Given the description of an element on the screen output the (x, y) to click on. 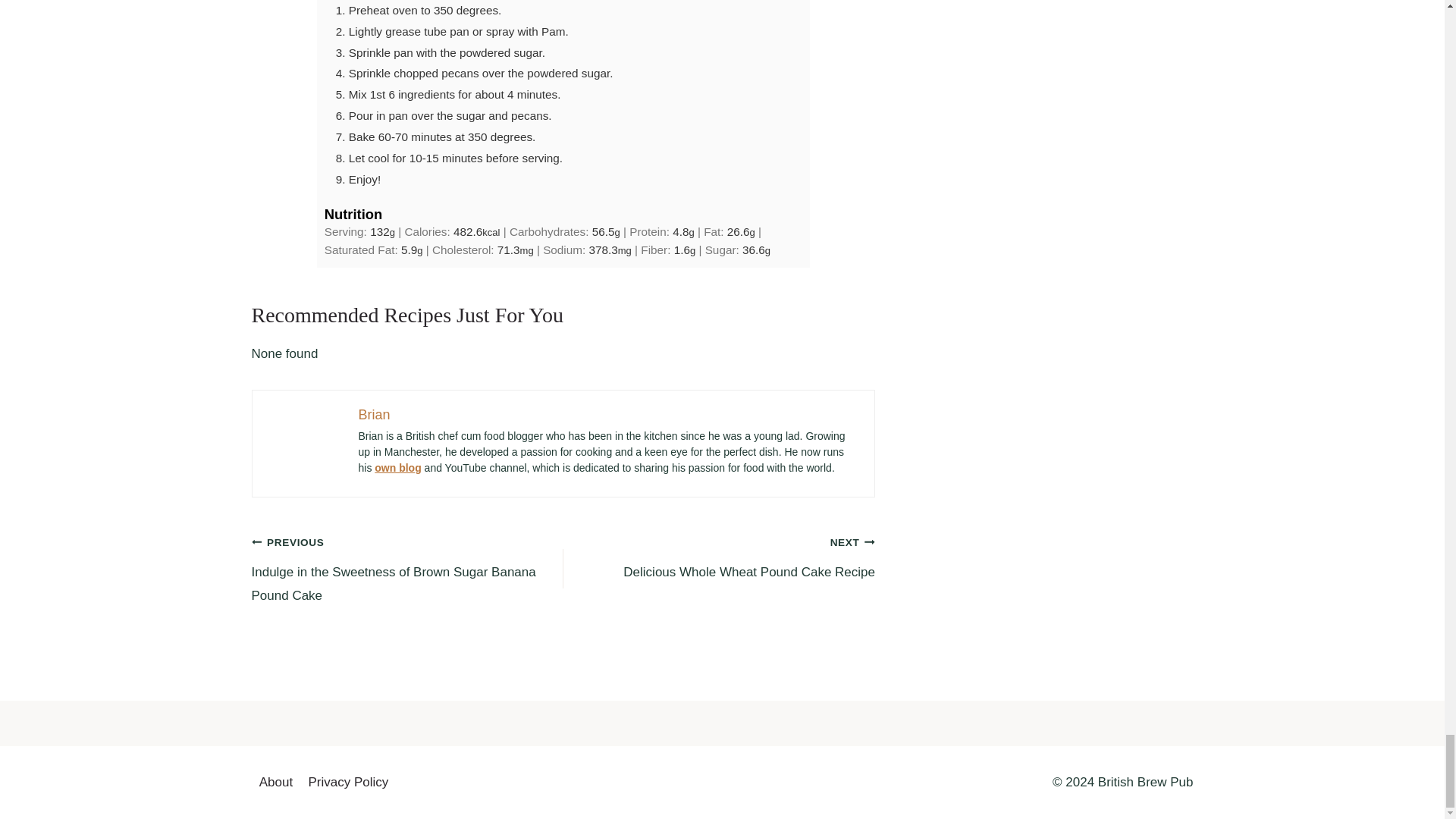
own blog (719, 556)
Brian (397, 467)
